Given the description of an element on the screen output the (x, y) to click on. 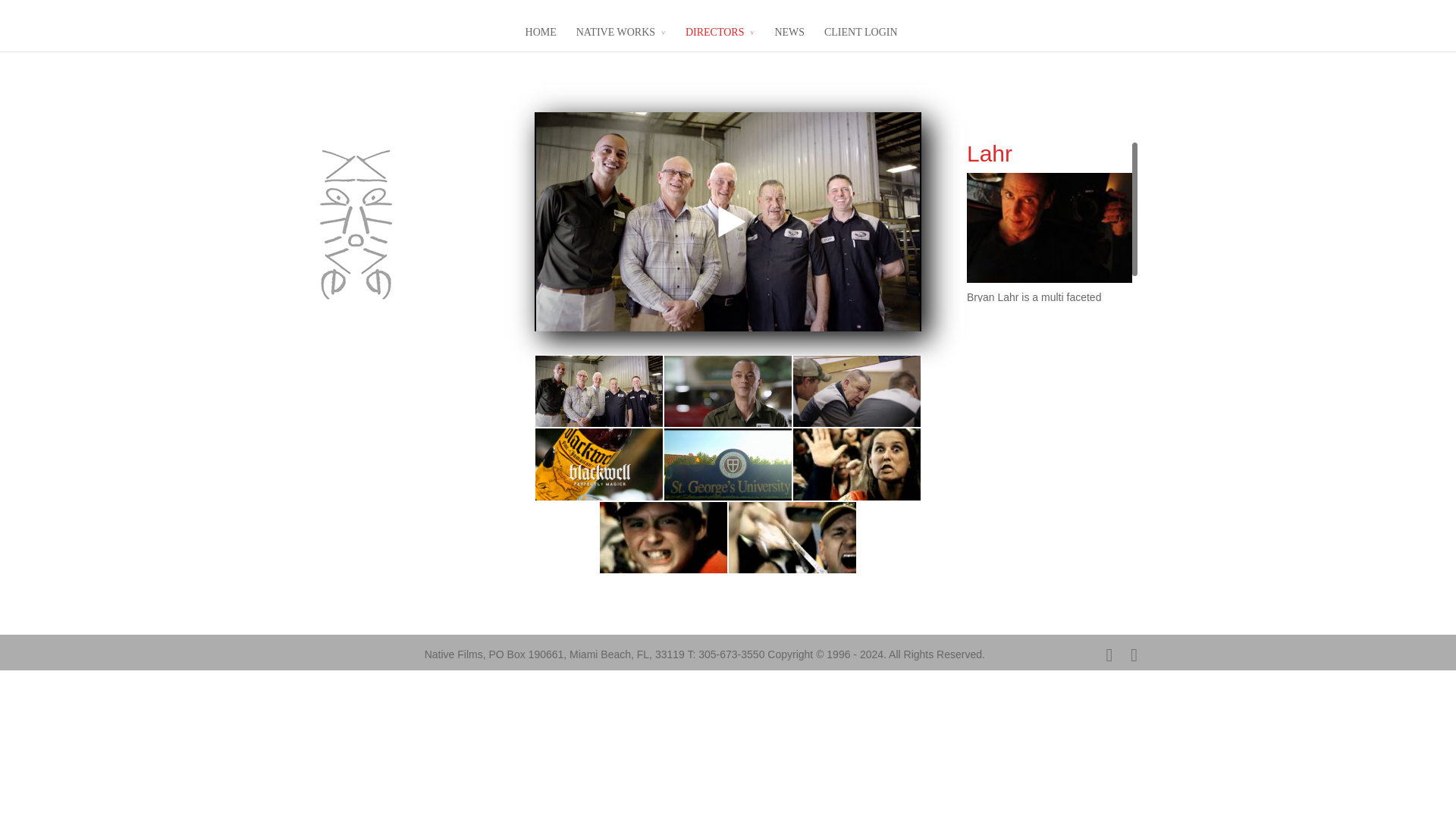
DIRECTORS (720, 37)
NEWS (789, 37)
NATIVE WORKS (620, 37)
CLIENT LOGIN (861, 37)
HOME (540, 37)
